Given the description of an element on the screen output the (x, y) to click on. 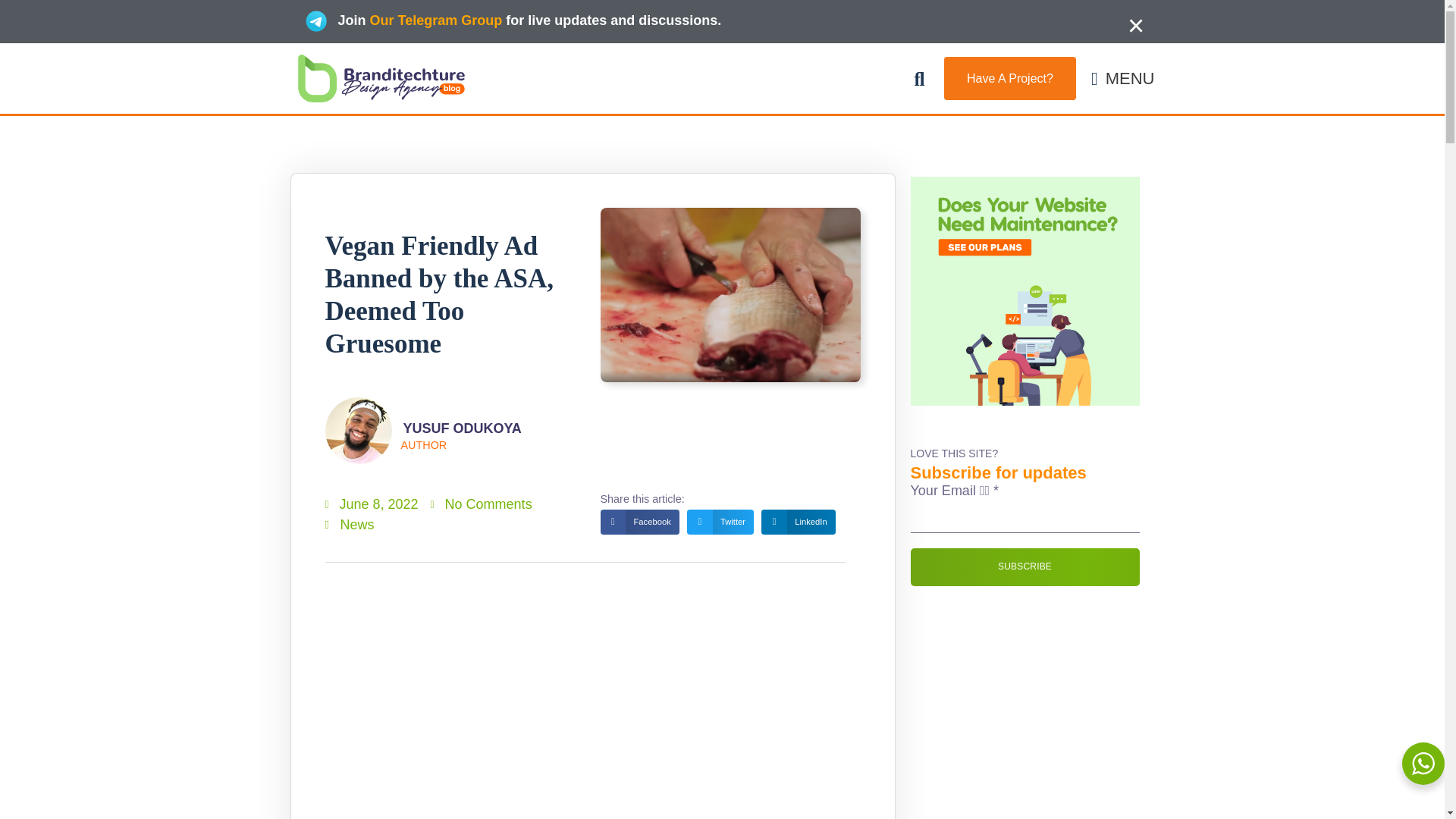
Telegram Group (437, 20)
Our Telegram Group (437, 20)
No Comments (481, 504)
Subscribe (1024, 566)
Make The Connection 2022 - Vegan Friendly (658, 737)
Have A Project? (1009, 77)
YUSUF ODUKOYA (494, 428)
Branditechture Blog (380, 78)
News (356, 524)
June 8, 2022 (370, 504)
